Given the description of an element on the screen output the (x, y) to click on. 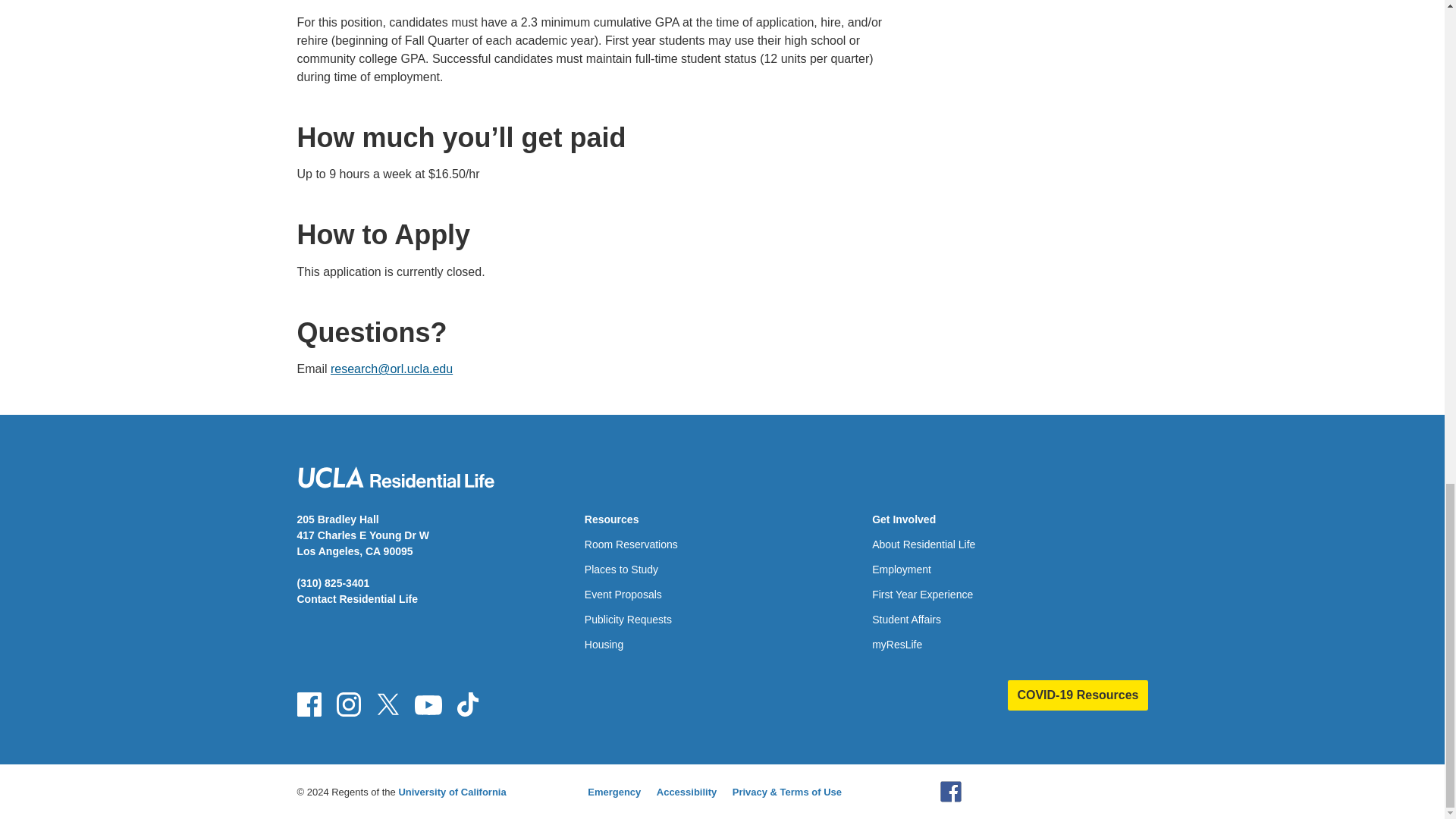
Publicity Requests (628, 619)
Student Affairs (906, 619)
COVID-19 Resources (1077, 695)
Accessibility (686, 791)
Room Reservations (631, 544)
Employment (901, 569)
Contact Residential Life (357, 598)
Event Proposals (623, 594)
Emergency (614, 791)
University of California (451, 791)
Housing (604, 644)
myResLife (896, 644)
Places to Study (621, 569)
First Year Experience (922, 594)
About Residential Life (923, 544)
